Given the description of an element on the screen output the (x, y) to click on. 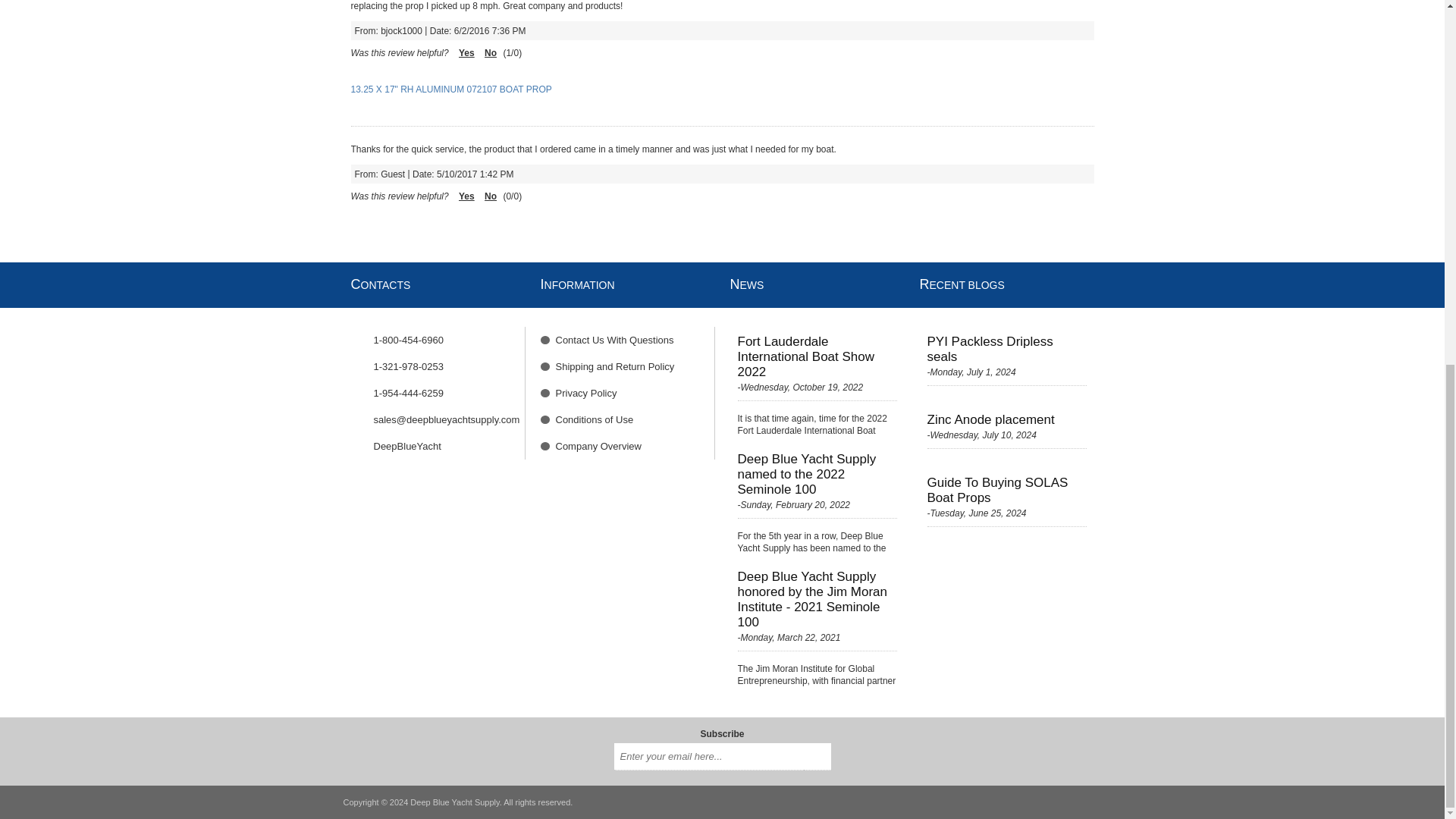
Subscribe (817, 756)
